Given the description of an element on the screen output the (x, y) to click on. 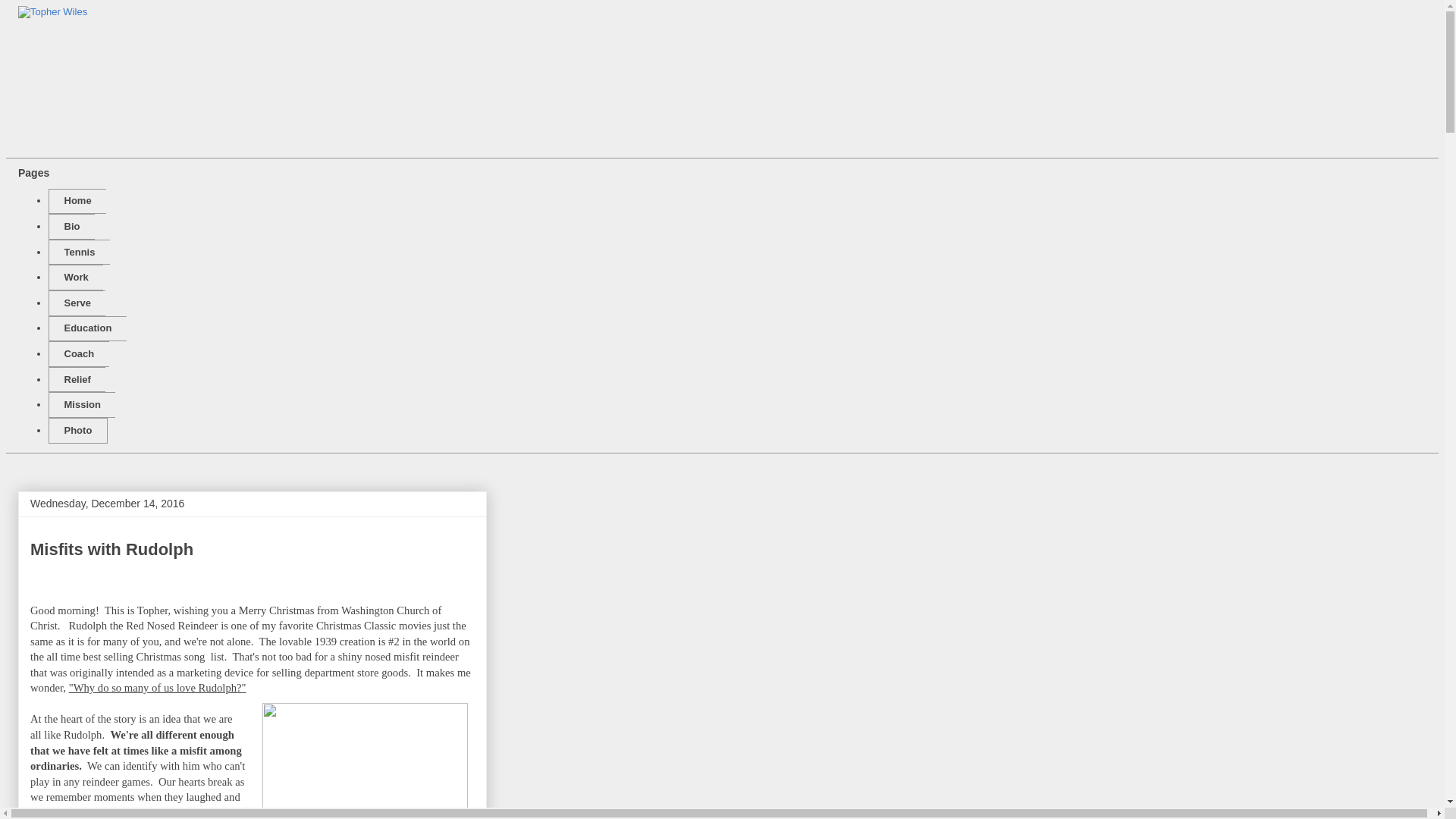
Relief (76, 379)
Serve (76, 303)
Mission (81, 404)
Coach (78, 353)
Bio (71, 226)
Work (75, 277)
Tennis (79, 252)
Home (77, 201)
Photo (77, 430)
Education (87, 329)
